Given the description of an element on the screen output the (x, y) to click on. 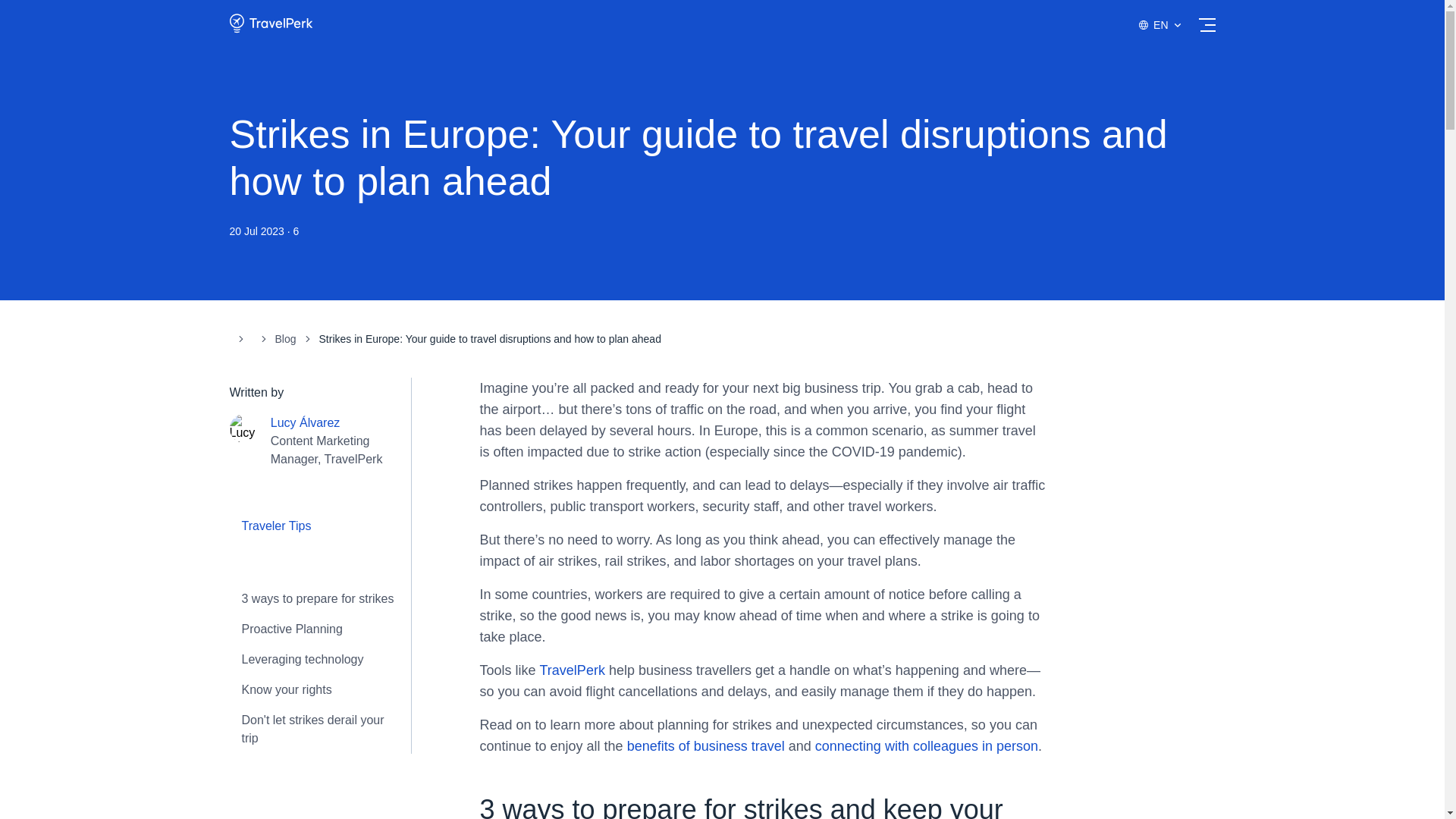
TravelPerk Logo (270, 23)
TravelPerk Logo (270, 29)
